Given the description of an element on the screen output the (x, y) to click on. 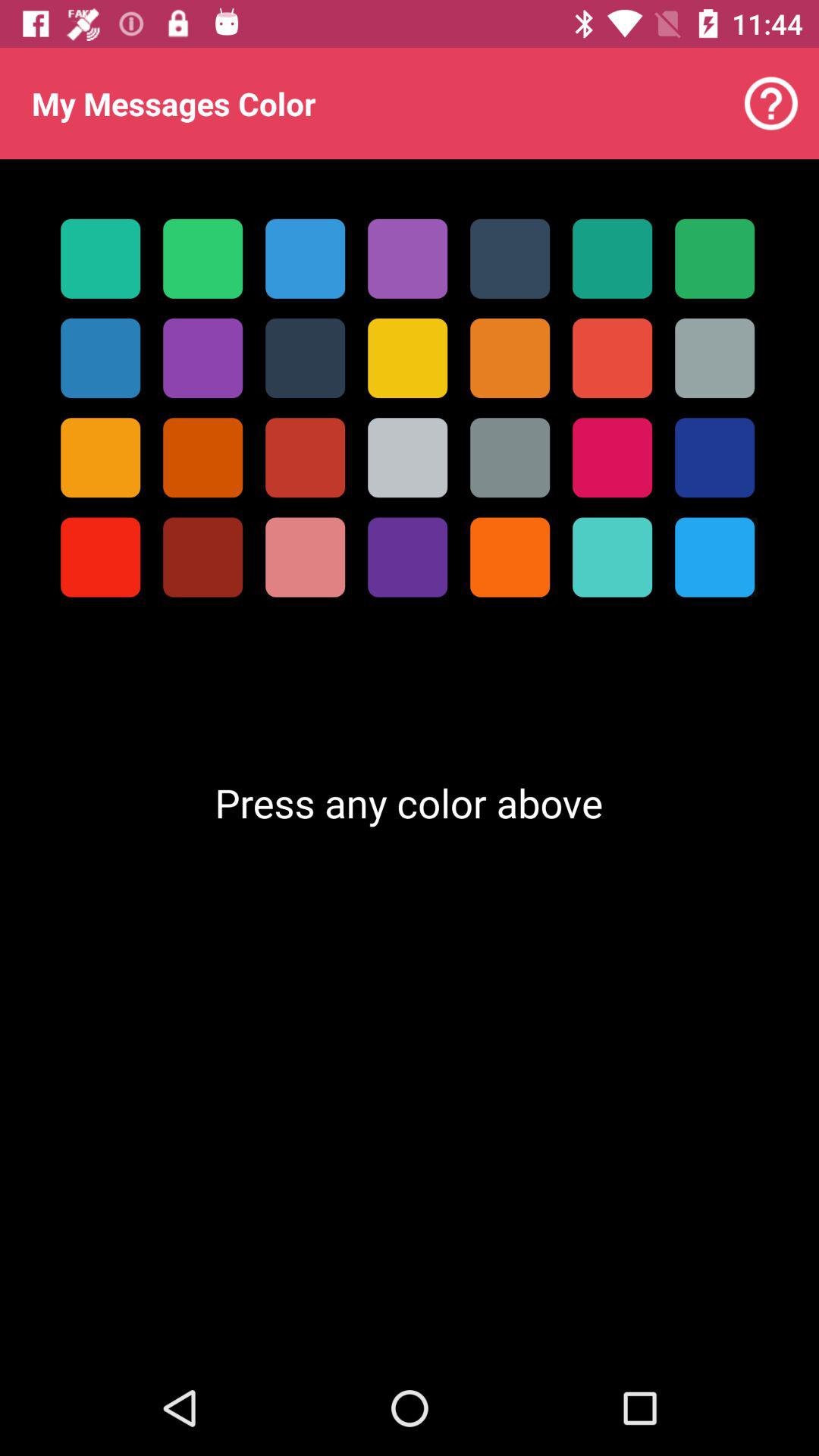
click item next to my messages color item (771, 103)
